Given the description of an element on the screen output the (x, y) to click on. 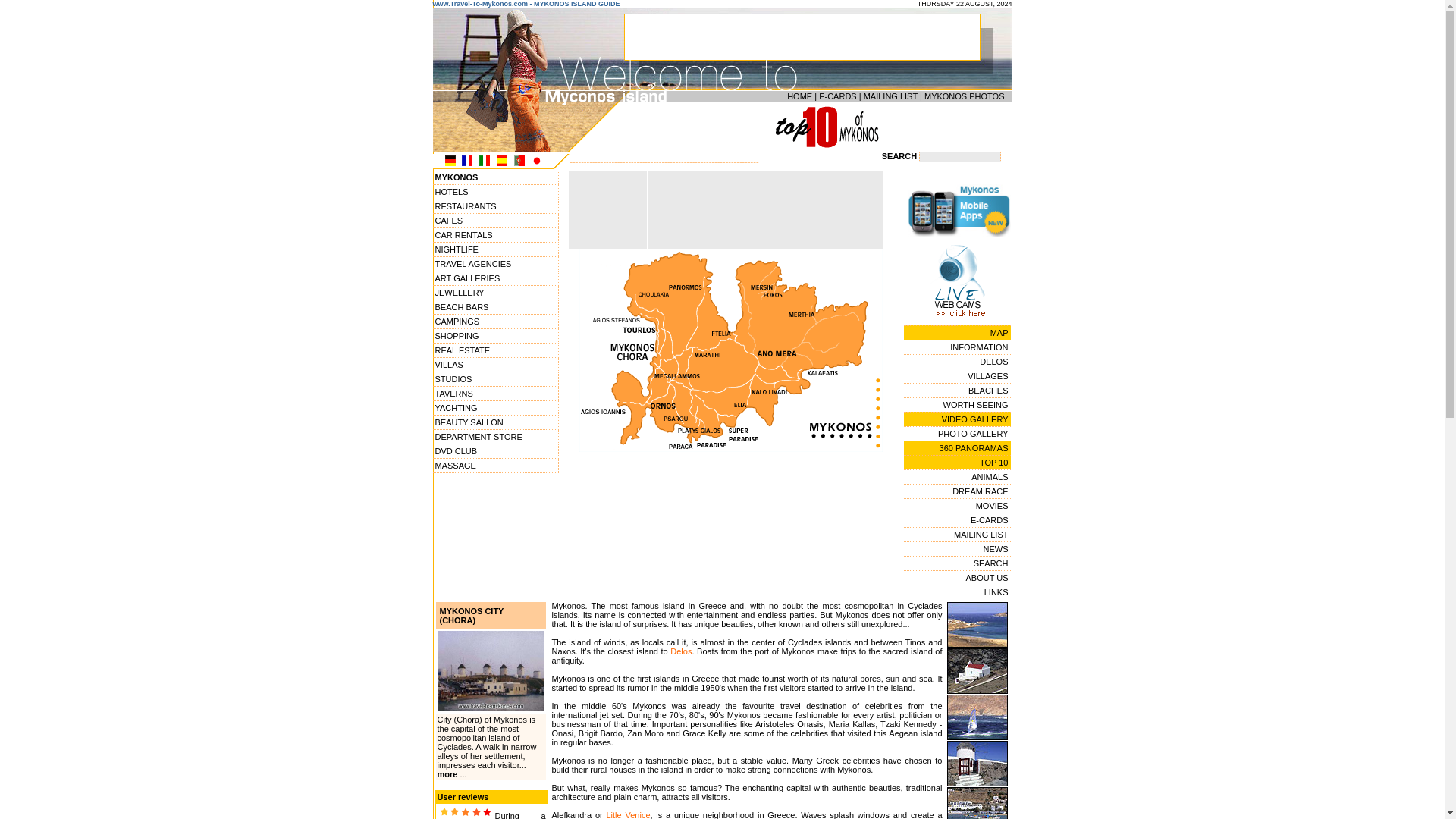
TRAVEL AGENCIES (494, 264)
INFORMATION (957, 346)
BEAUTY SALLON (494, 422)
MYKONOS (494, 177)
MYKONOS PHOTOS (964, 95)
VILLAS (494, 364)
MAILING LIST (890, 95)
HOME (799, 95)
BEACHES (957, 390)
SHOPPING (494, 336)
